Given the description of an element on the screen output the (x, y) to click on. 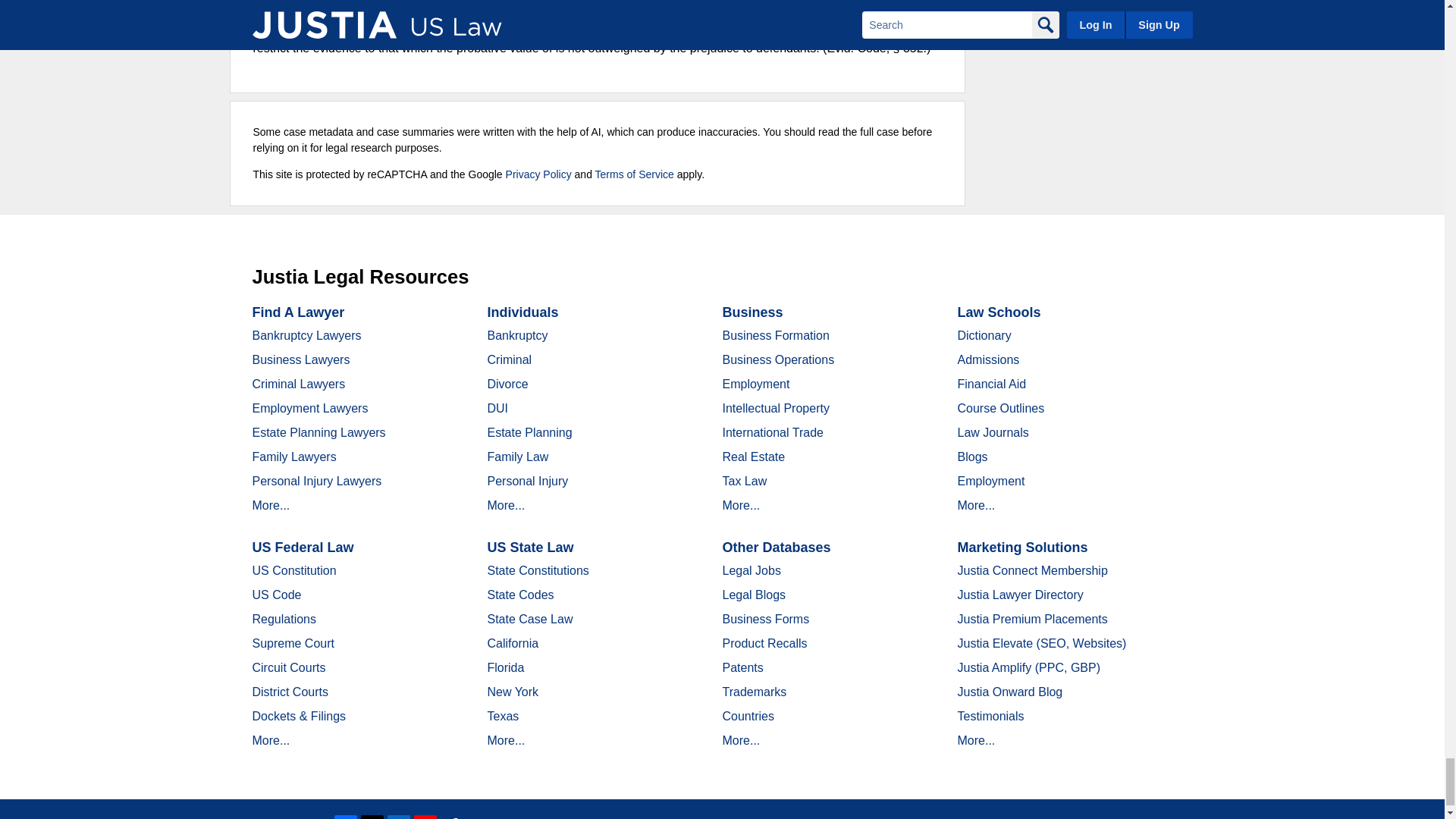
Facebook (345, 816)
Twitter (372, 816)
LinkedIn (398, 816)
